Given the description of an element on the screen output the (x, y) to click on. 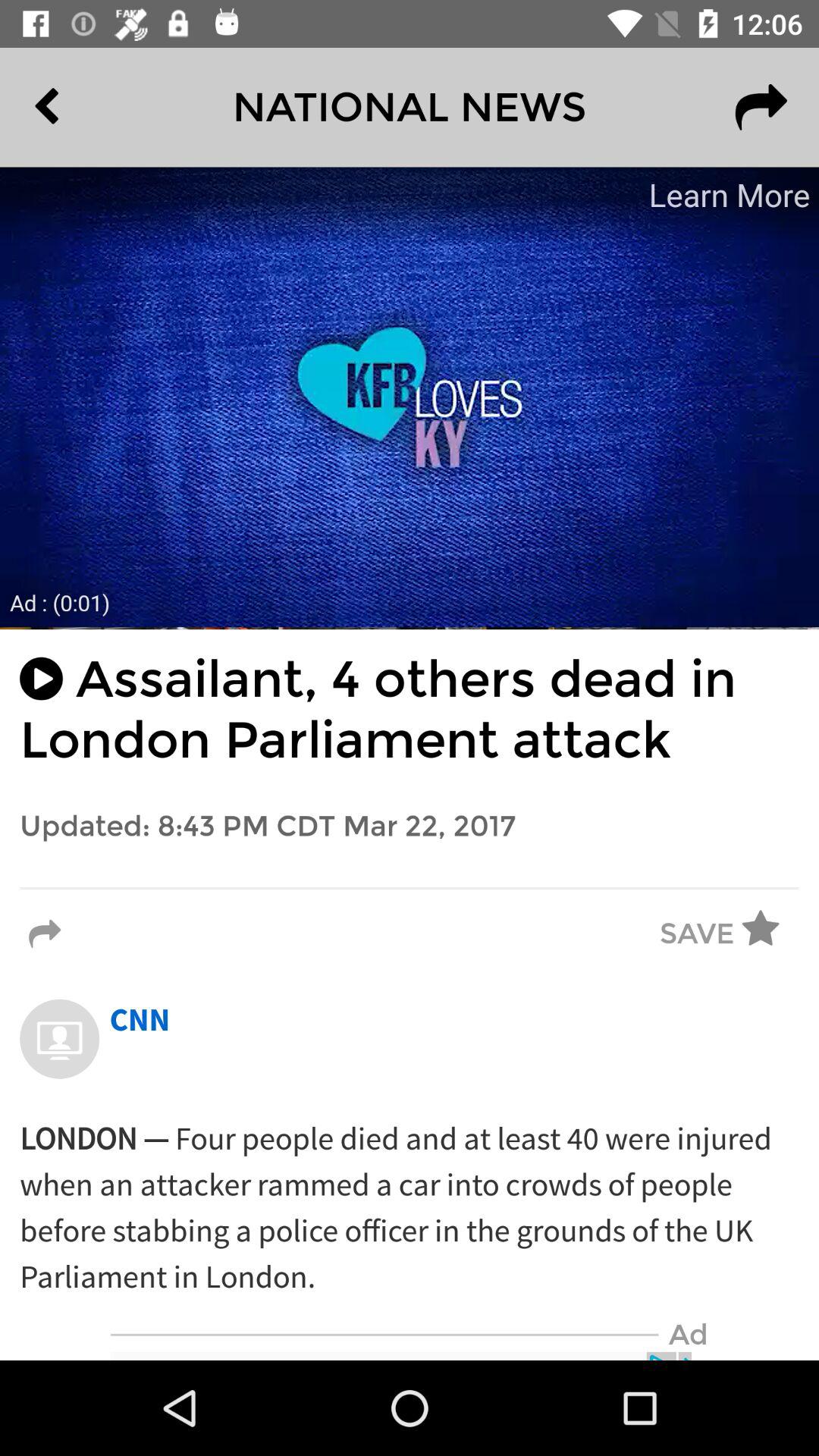
select the icon at the top left corner (81, 107)
